Given the description of an element on the screen output the (x, y) to click on. 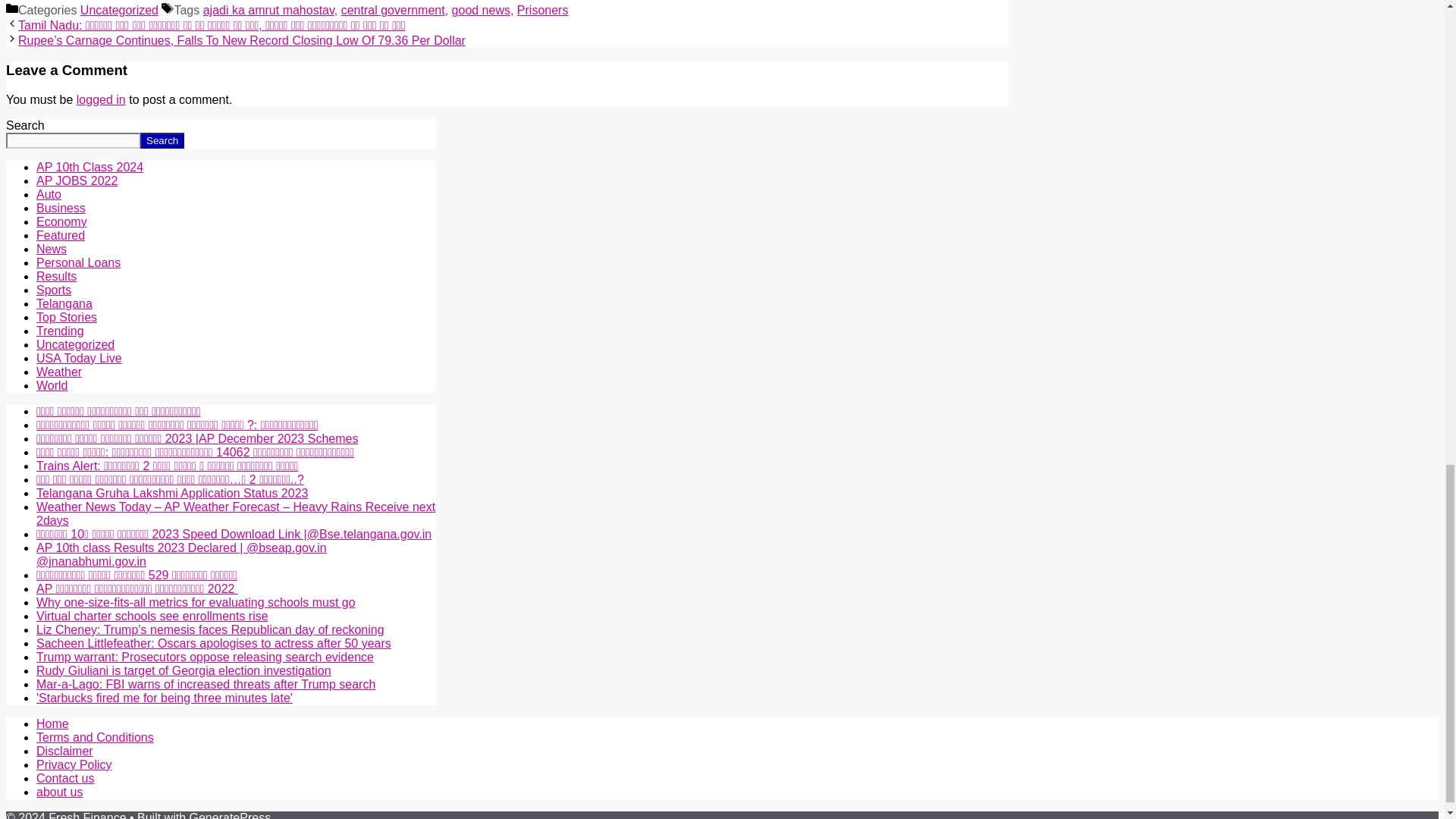
Weather (58, 371)
USA Today Live (79, 358)
Trending (60, 330)
Personal Loans (78, 262)
Results (56, 276)
central government (392, 10)
ajadi ka amrut mahostav (268, 10)
Top Stories (66, 317)
good news (481, 10)
logged in (101, 99)
Telangana (64, 303)
Prisoners (542, 10)
Sports (53, 289)
Auto (48, 194)
AP 10th Class 2024 (89, 166)
